Given the description of an element on the screen output the (x, y) to click on. 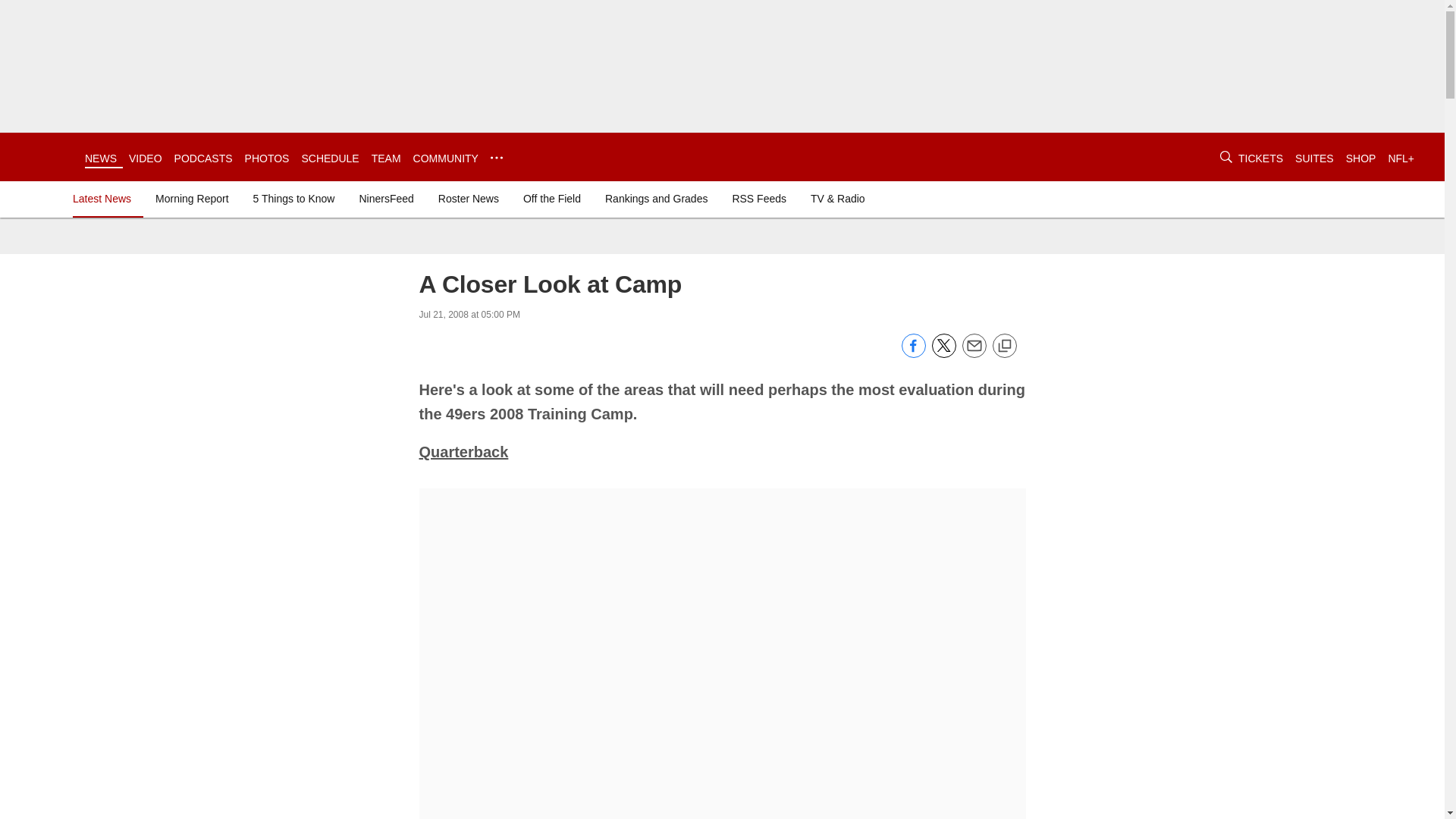
PHOTOS (266, 158)
TICKETS (1260, 158)
COMMUNITY (446, 158)
SCHEDULE (329, 158)
NEWS (100, 158)
VIDEO (145, 158)
Link to club's homepage (42, 156)
Rankings and Grades (655, 198)
PHOTOS (266, 158)
Off the Field (551, 198)
